Given the description of an element on the screen output the (x, y) to click on. 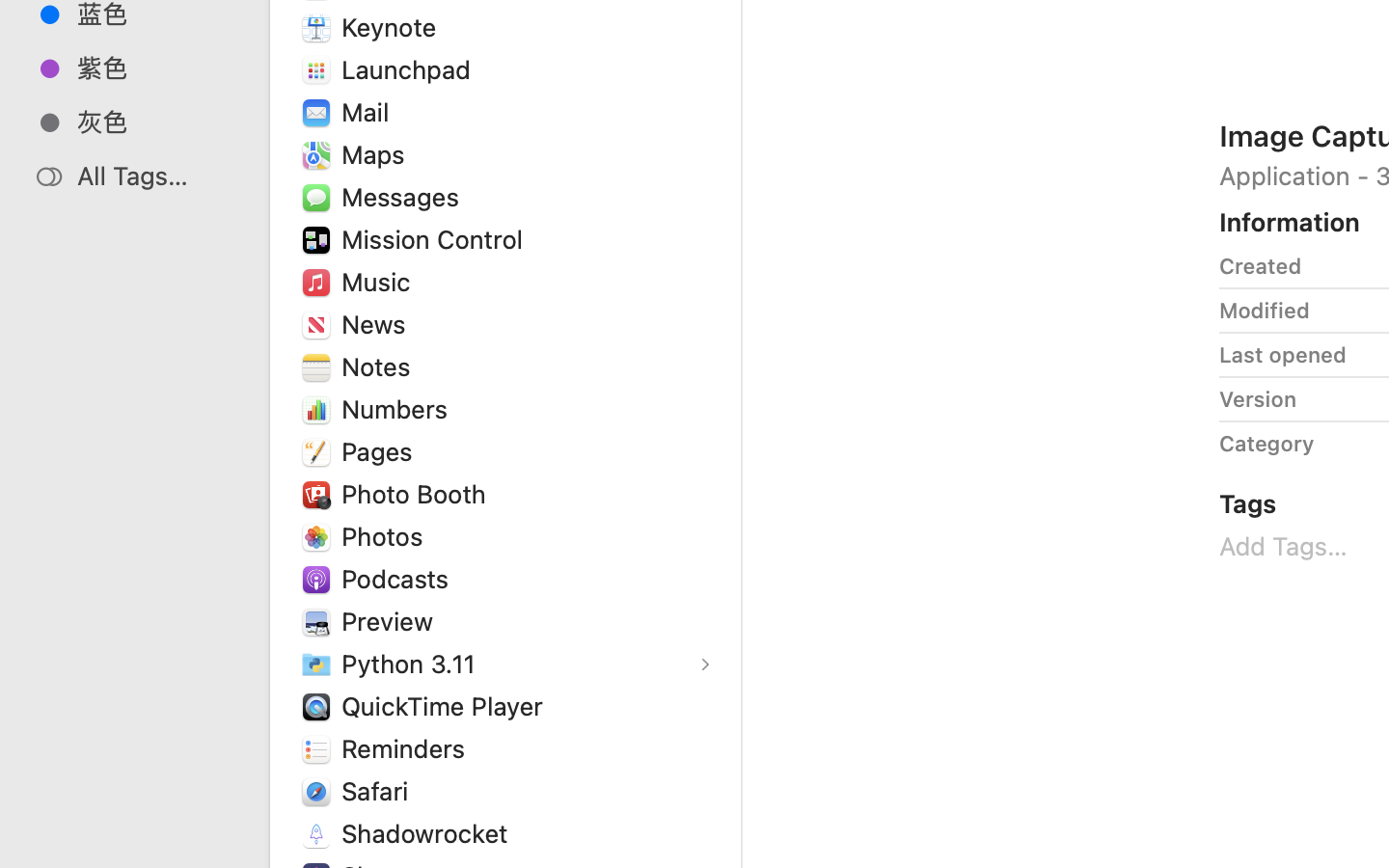
Messages Element type: AXTextField (403, 196)
QuickTime Player Element type: AXTextField (446, 705)
紫色 Element type: AXStaticText (155, 67)
